Given the description of an element on the screen output the (x, y) to click on. 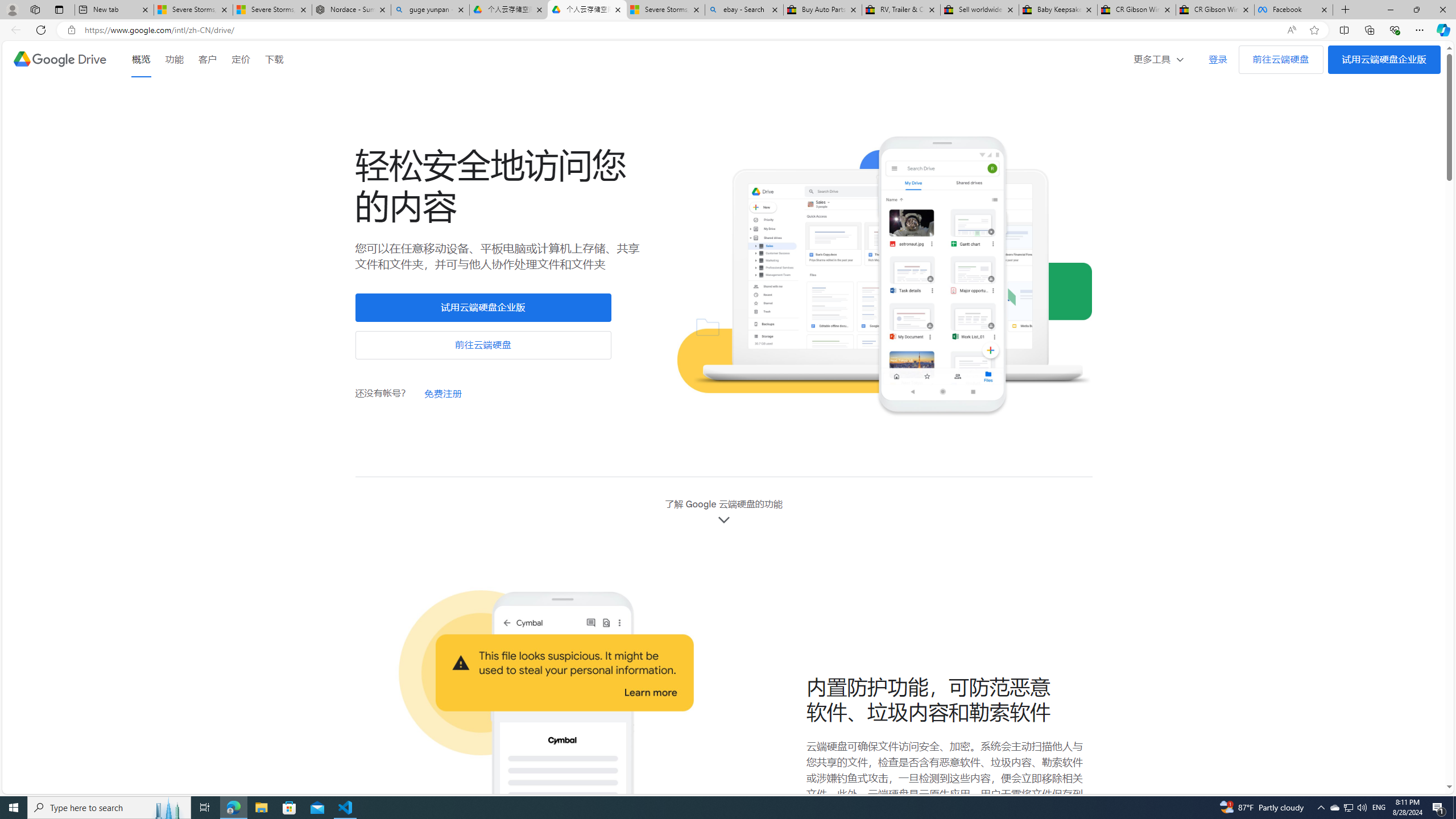
RV, Trailer & Camper Steps & Ladders for sale | eBay (900, 9)
drive-hero (884, 276)
